Given the description of an element on the screen output the (x, y) to click on. 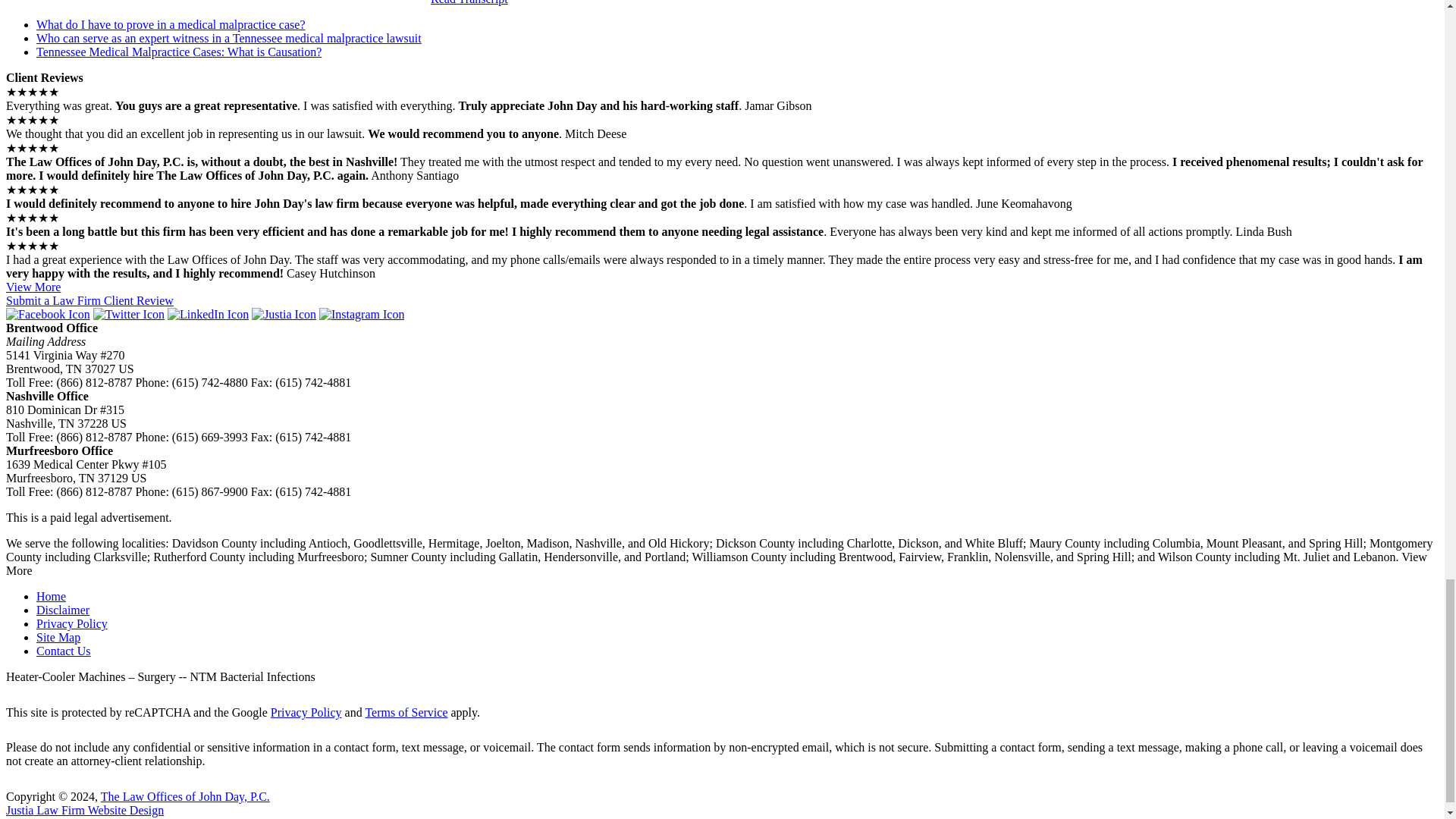
Justia (283, 314)
Twitter (128, 314)
Facebook (47, 314)
LinkedIn (207, 314)
Instagram (361, 314)
